Given the description of an element on the screen output the (x, y) to click on. 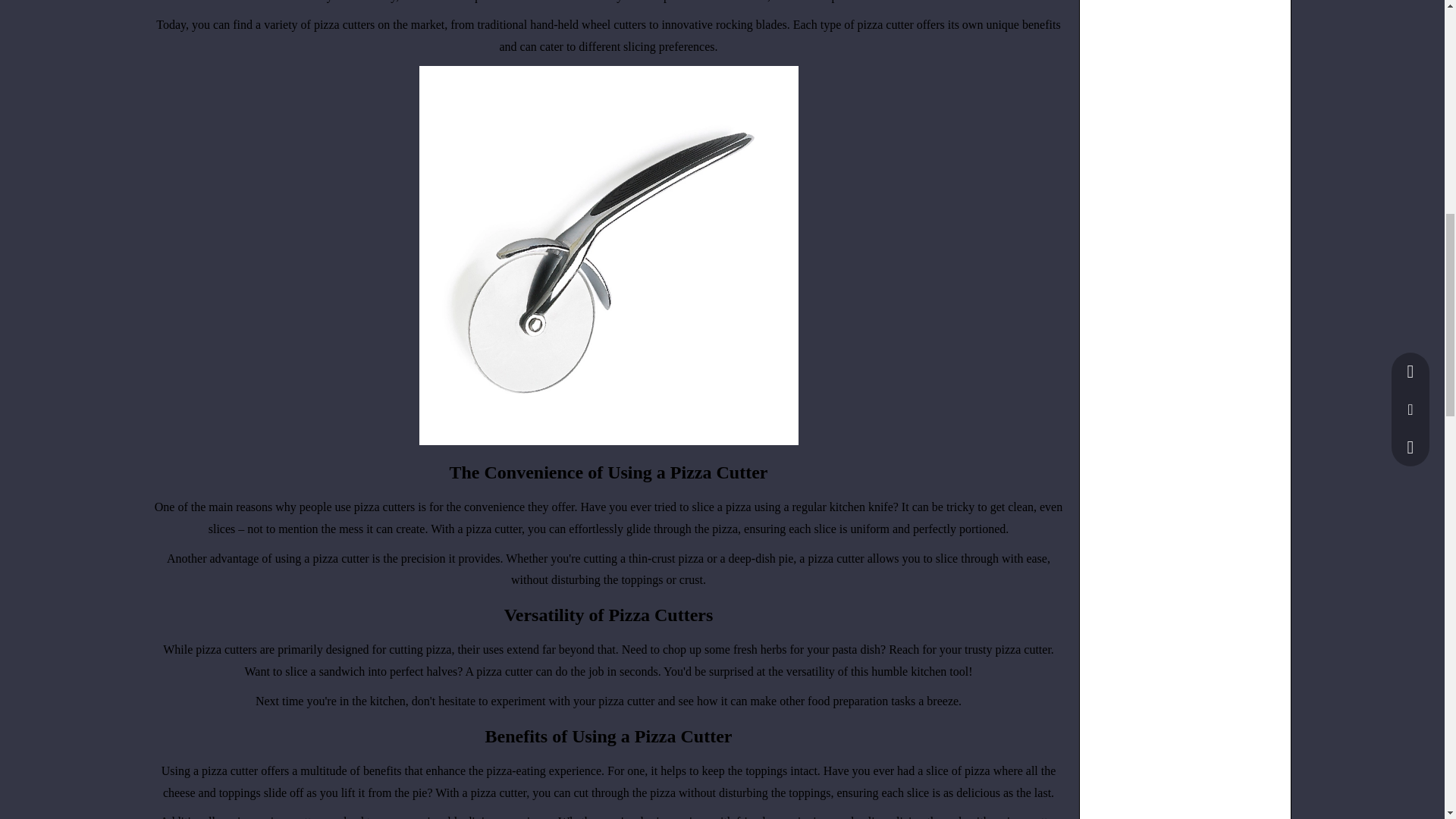
wheel cutters (613, 24)
wheel cutters (613, 24)
